Given the description of an element on the screen output the (x, y) to click on. 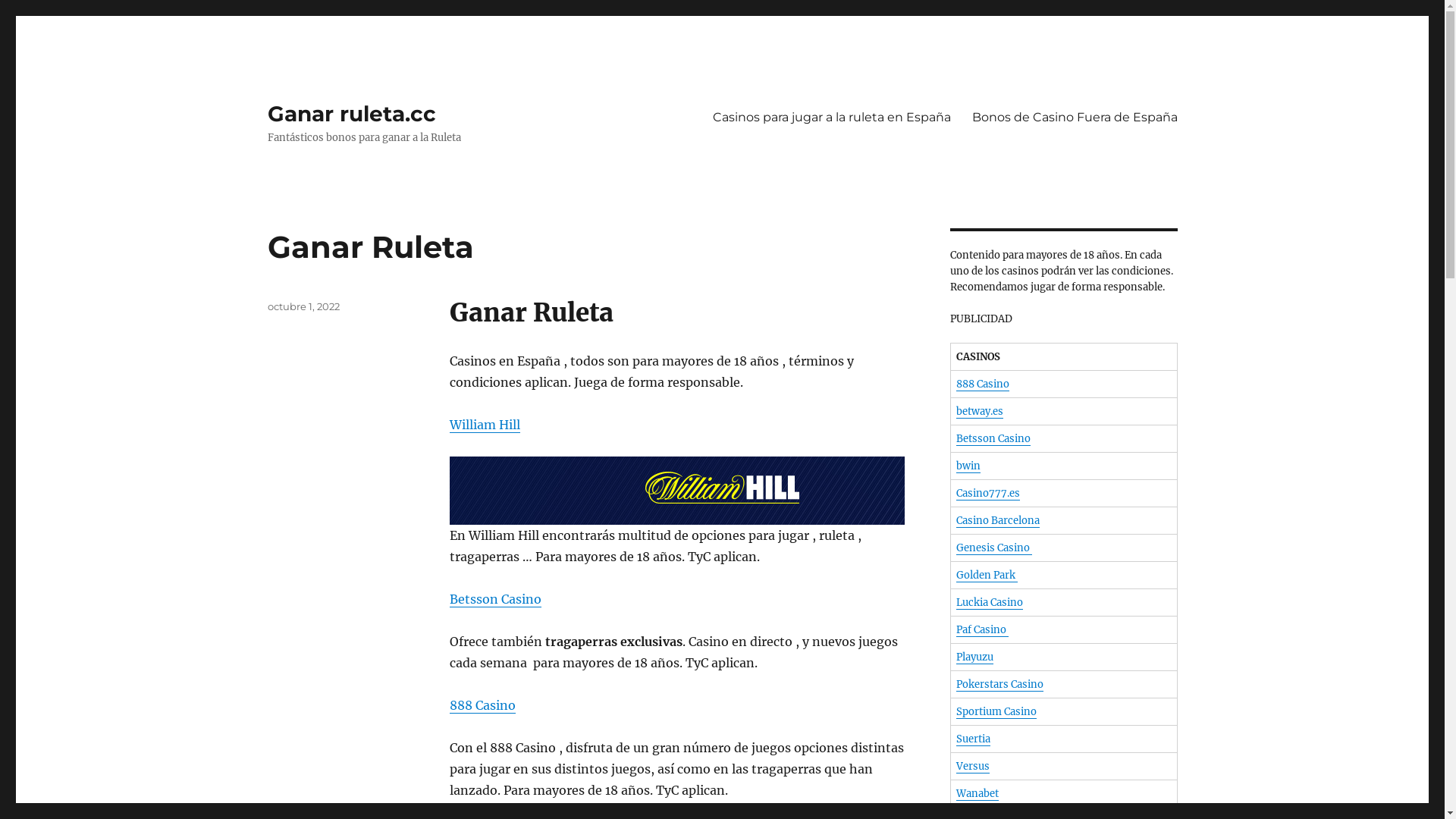
Casino777.es Element type: text (987, 492)
Betsson Casino Element type: text (494, 598)
octubre 1, 2022 Element type: text (302, 306)
William Hill Element type: text (483, 424)
Ganar Ruleta Element type: text (369, 246)
bwin Element type: text (967, 465)
Casino Barcelona Element type: text (996, 520)
Betsson Casino Element type: text (992, 438)
Wanabet Element type: text (976, 793)
betway.es Element type: text (978, 410)
Suertia Element type: text (972, 738)
888 Casino Element type: text (981, 383)
888 Casino Element type: text (481, 704)
Playuzu Element type: text (973, 656)
Genesis Casino  Element type: text (993, 547)
Versus Element type: text (971, 765)
Ganar ruleta.cc Element type: text (350, 113)
Pokerstars Casino Element type: text (998, 683)
Sportium Casino Element type: text (995, 711)
Luckia Casino Element type: text (988, 602)
Golden Park  Element type: text (985, 574)
Paf Casino  Element type: text (981, 629)
